Given the description of an element on the screen output the (x, y) to click on. 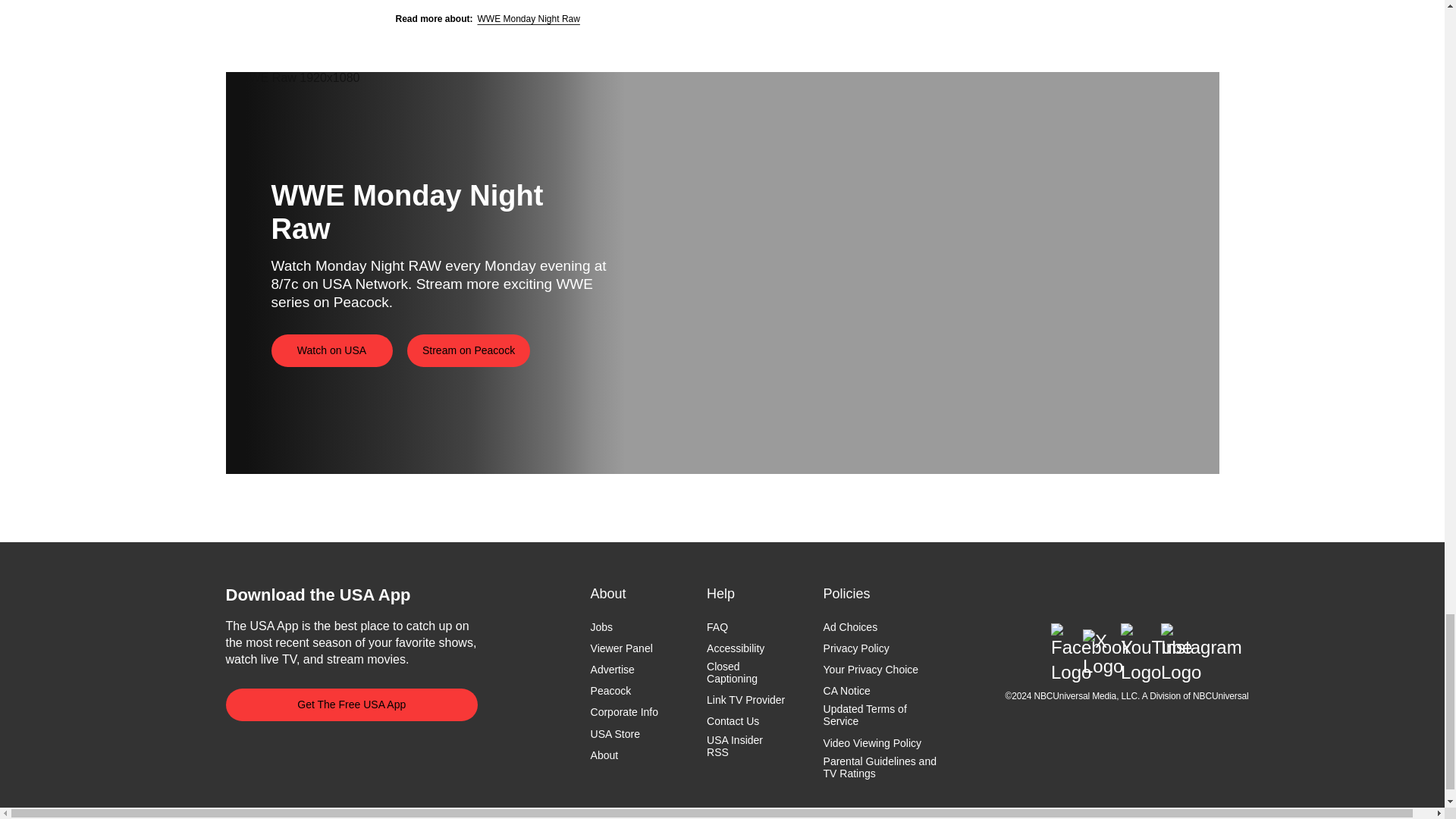
WWE Monday Night Raw (528, 18)
Watch on USA (331, 350)
